Given the description of an element on the screen output the (x, y) to click on. 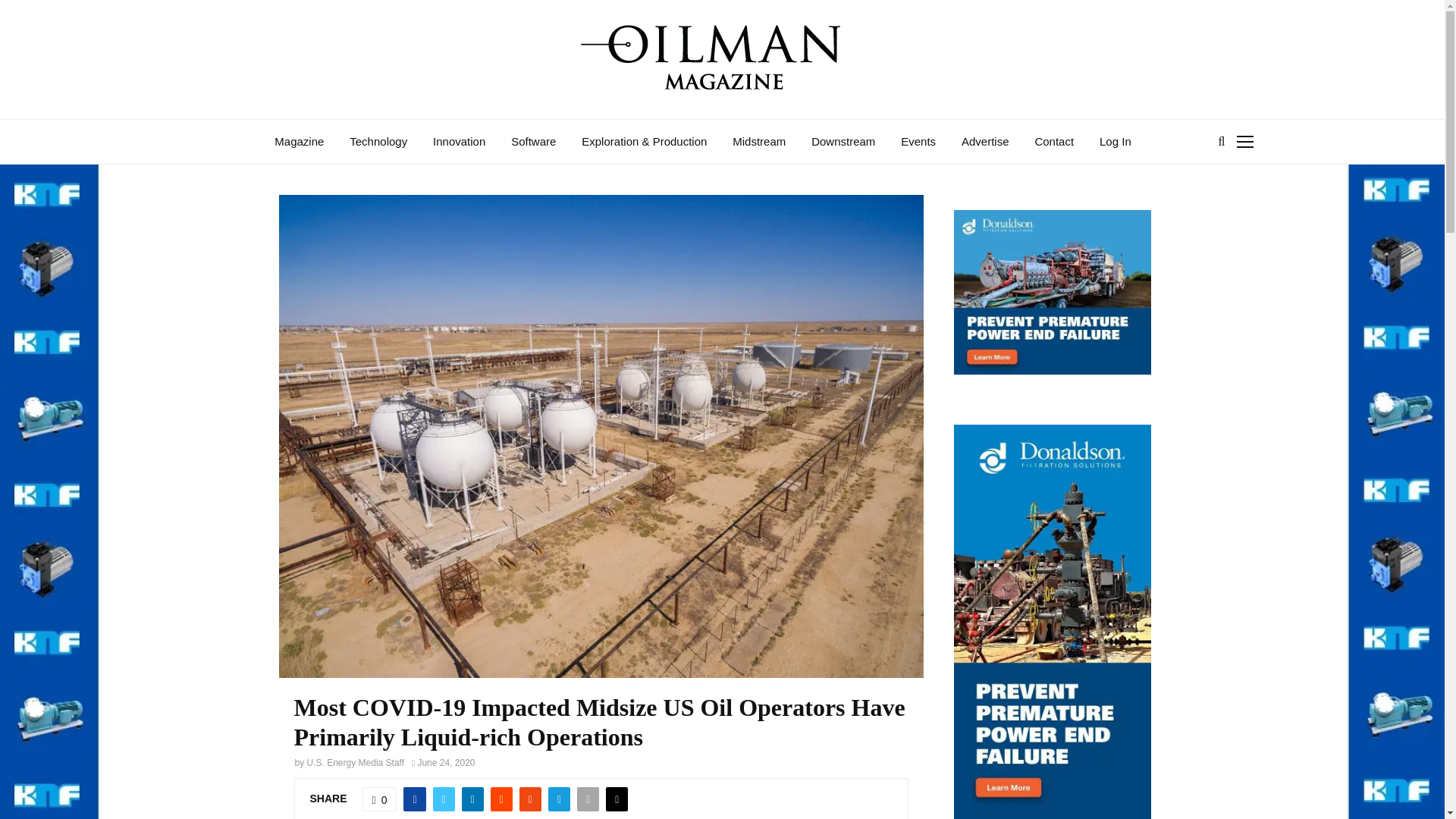
Advertise (984, 141)
0 (379, 799)
Downstream (842, 141)
Innovation (458, 141)
Magazine (299, 141)
Midstream (759, 141)
Like (379, 799)
Technology (378, 141)
Software (533, 141)
U.S. Energy Media Staff (355, 762)
